Given the description of an element on the screen output the (x, y) to click on. 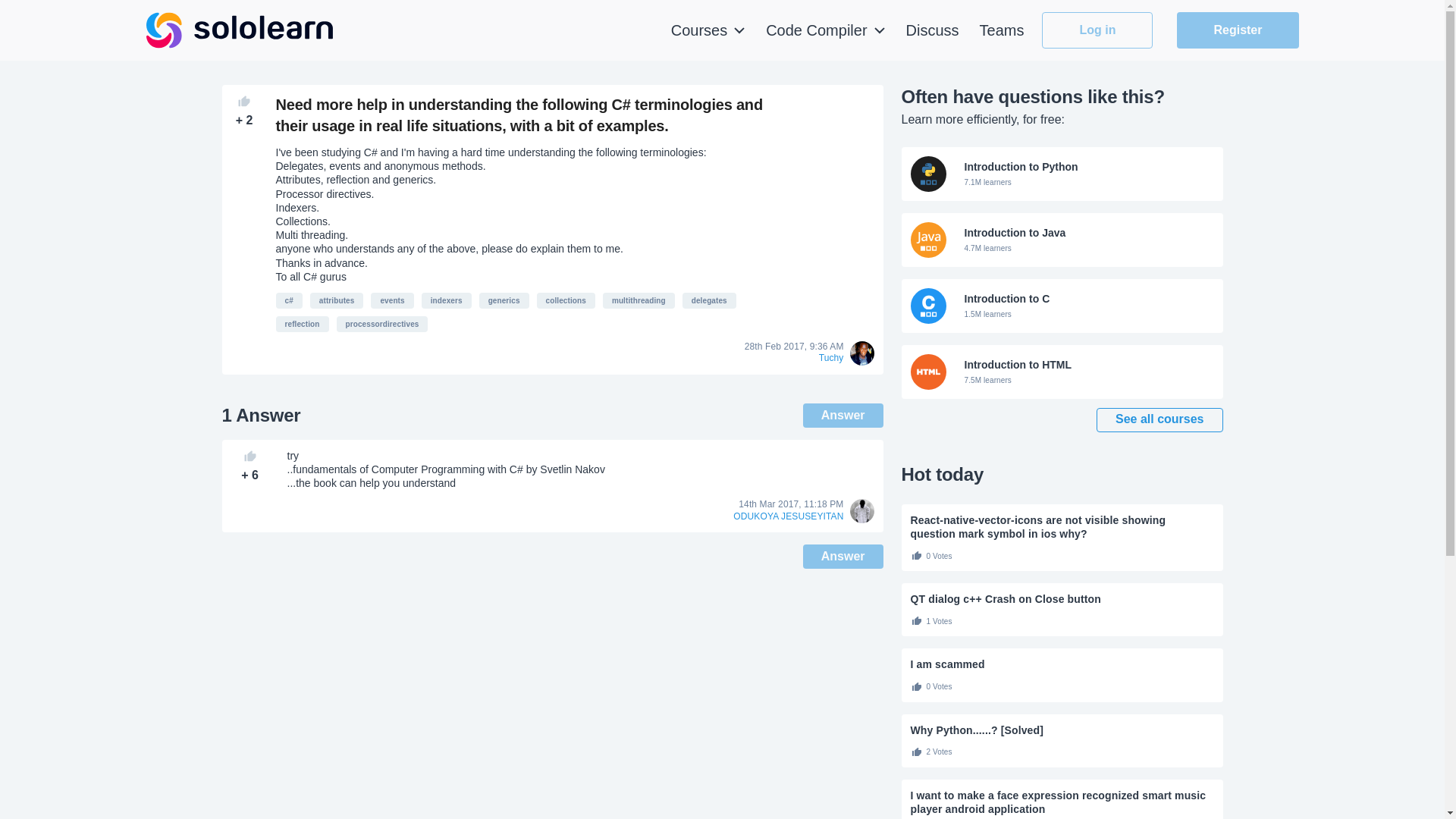
generics (504, 300)
Register (1237, 30)
See all courses (1159, 419)
Introduction to HTML (1062, 371)
Answer (843, 556)
Courses (1062, 239)
multithreading (708, 29)
events (638, 300)
Introduction to Java (392, 300)
delegates (1062, 239)
collections (709, 300)
processordirectives (566, 300)
Answer (382, 324)
